Given the description of an element on the screen output the (x, y) to click on. 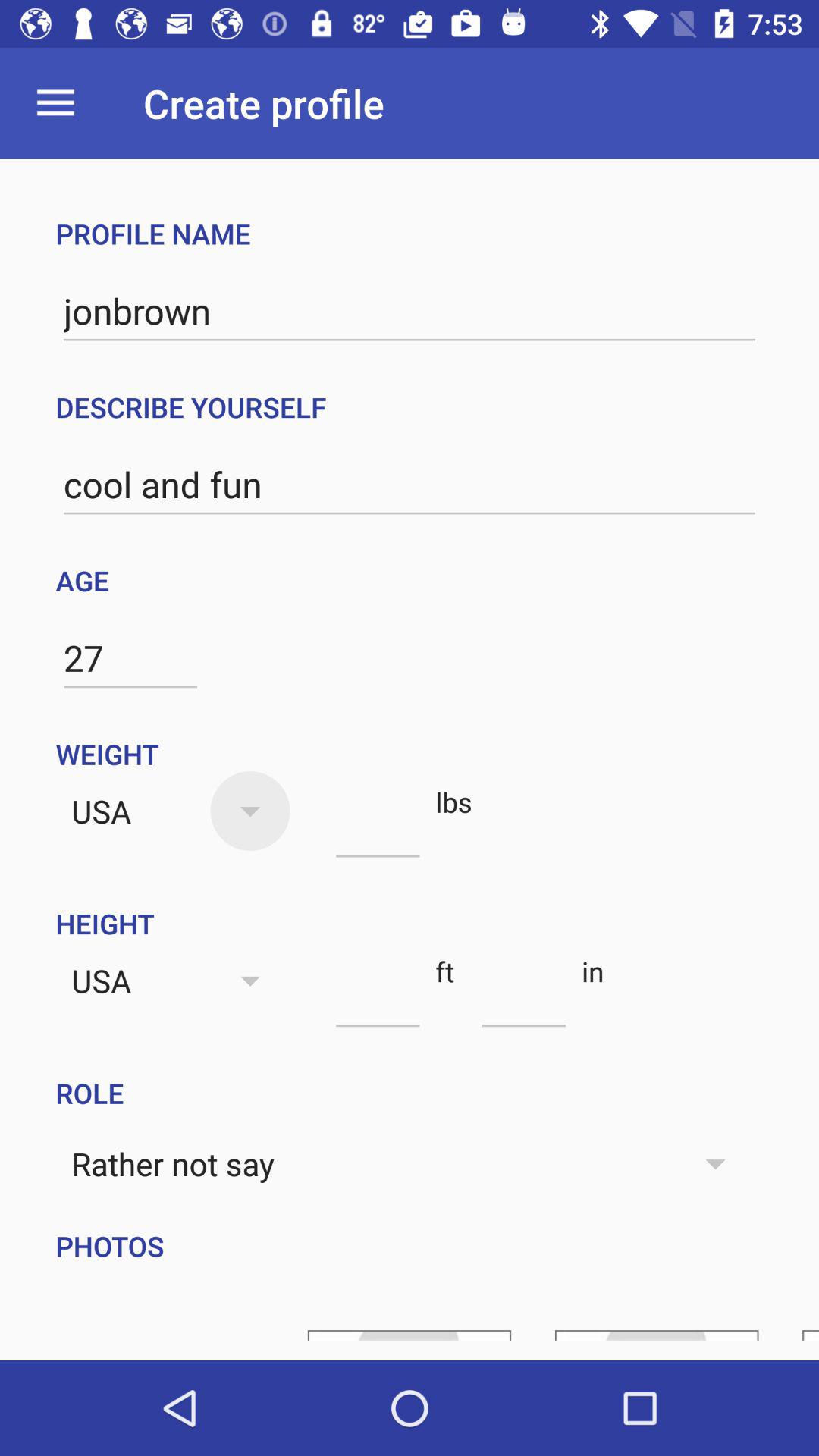
enter inches (523, 999)
